Given the description of an element on the screen output the (x, y) to click on. 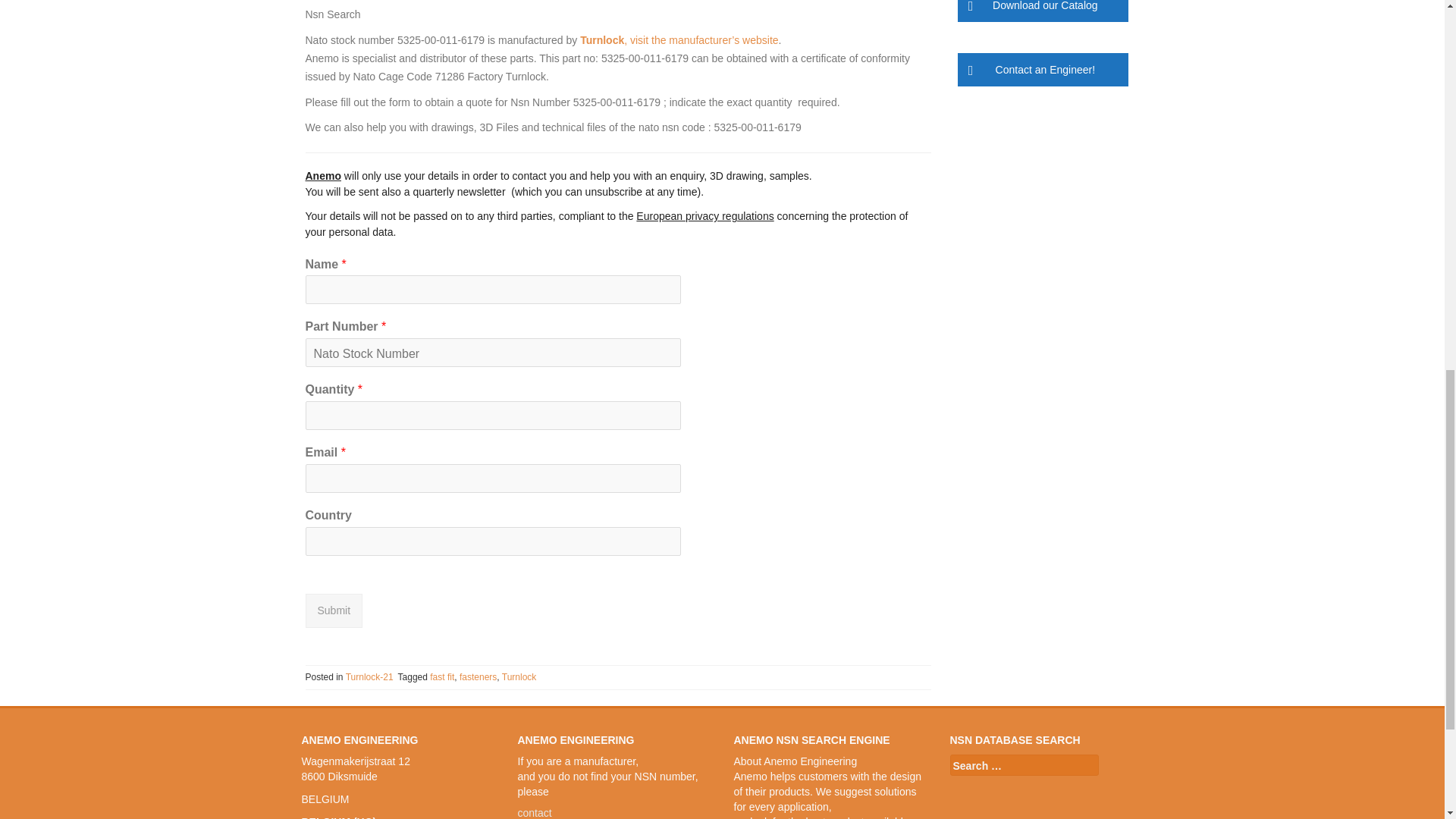
fast fit (441, 676)
Turnlock (519, 676)
Turnlock-21 (369, 676)
Submit (333, 610)
fasteners (478, 676)
Download catalog (1041, 11)
